Given the description of an element on the screen output the (x, y) to click on. 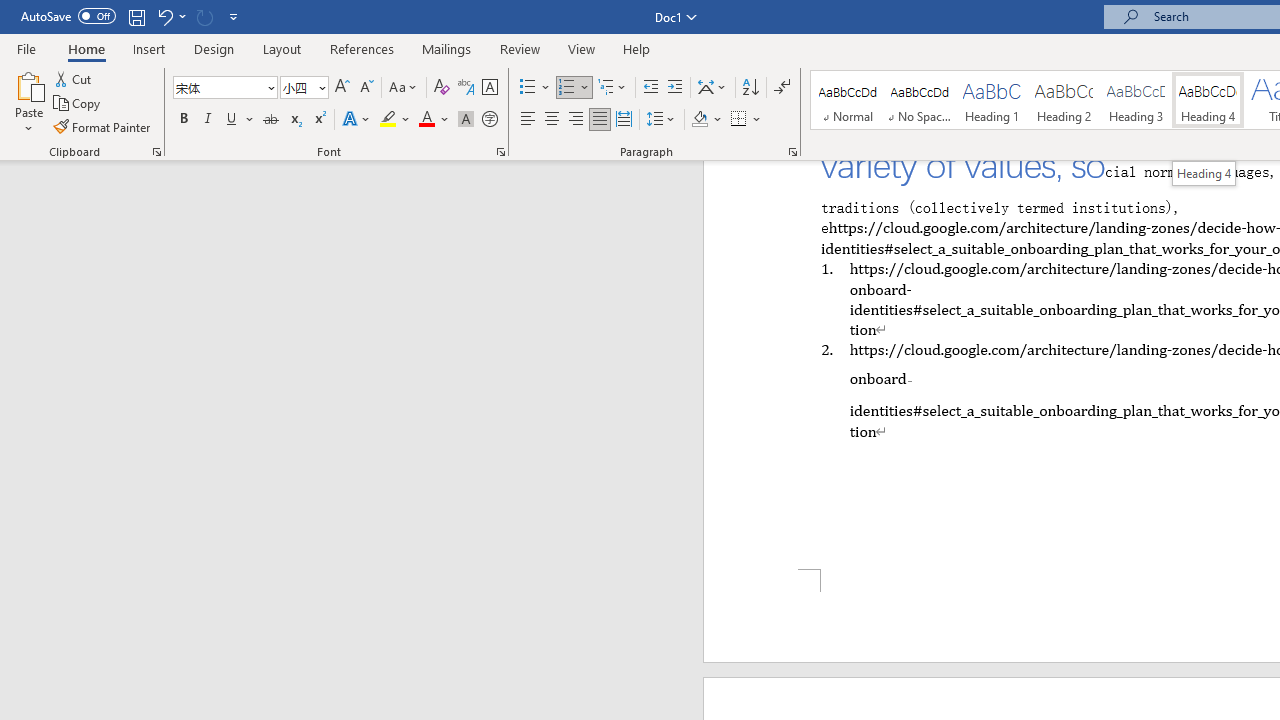
Shading (706, 119)
Decrease Indent (650, 87)
Numbering (573, 87)
Borders (746, 119)
Show/Hide Editing Marks (781, 87)
References (362, 48)
Office Clipboard... (156, 151)
Enclose Characters... (489, 119)
Change Case (404, 87)
Asian Layout (712, 87)
Line and Paragraph Spacing (661, 119)
Shrink Font (365, 87)
